Given the description of an element on the screen output the (x, y) to click on. 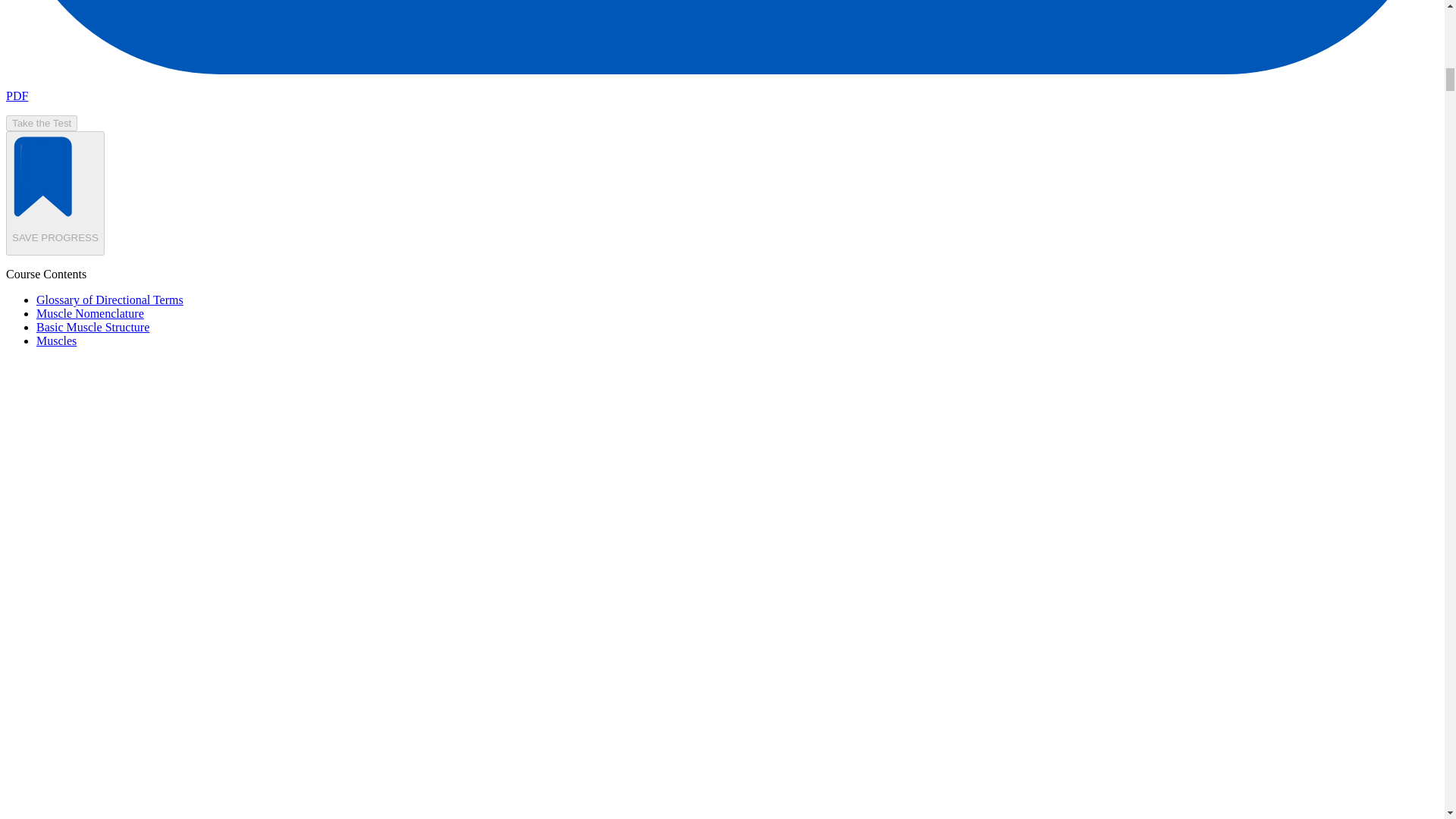
Basic Muscle Structure (92, 327)
SAVE PROGRESS (54, 193)
Muscle Nomenclature (90, 313)
Glossary of Directional Terms (109, 299)
Muscles (56, 340)
Take the Test (41, 123)
